Given the description of an element on the screen output the (x, y) to click on. 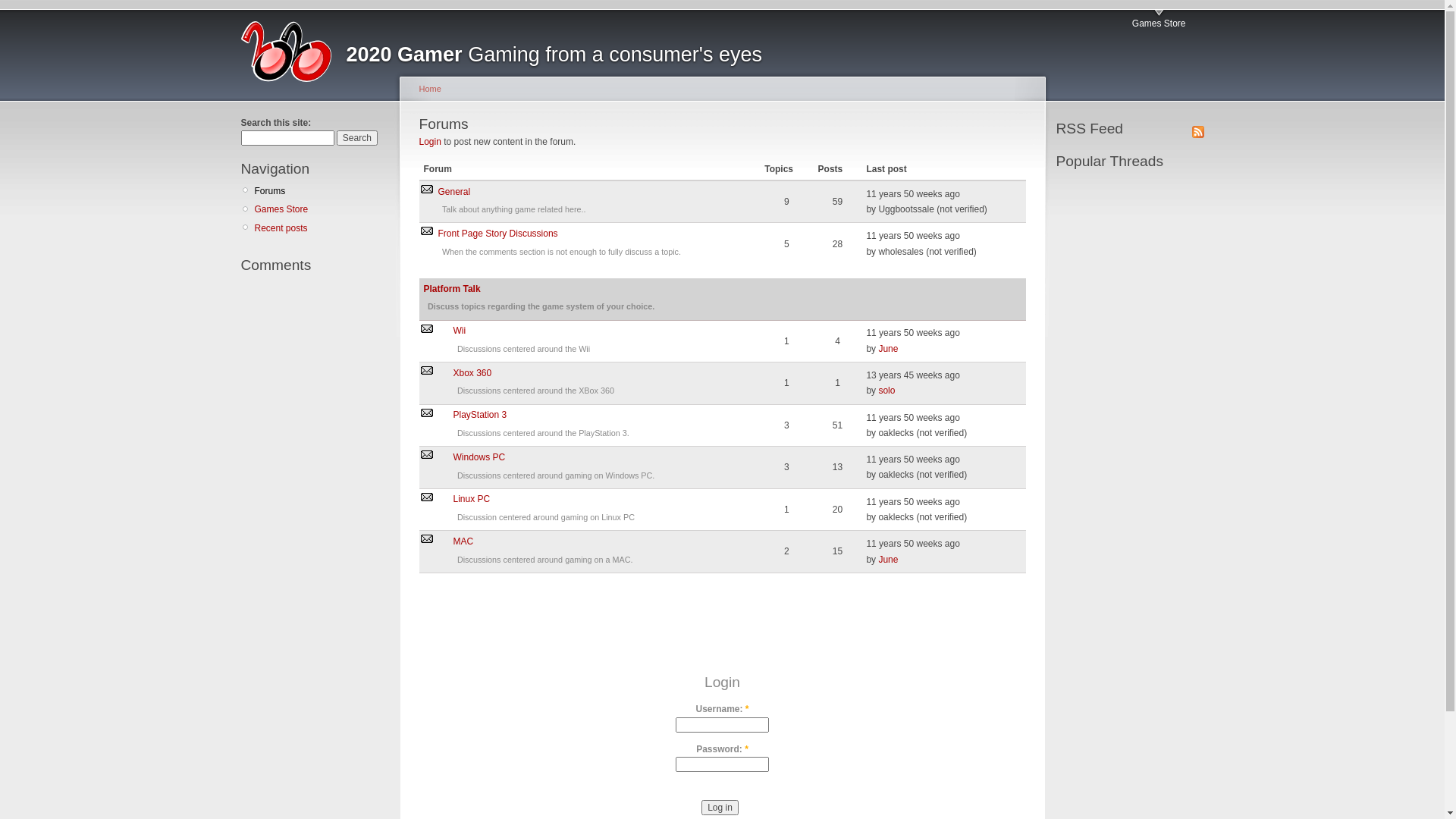
solo Element type: text (886, 390)
Wii Element type: text (459, 330)
Search Element type: text (356, 137)
Forums Element type: text (321, 190)
MAC Element type: text (463, 541)
Games Store Element type: text (1159, 20)
June Element type: text (887, 348)
Login Element type: text (429, 141)
General Element type: text (454, 191)
June Element type: text (887, 559)
Advertisement Element type: hover (722, 641)
PlayStation 3 Element type: text (480, 414)
Platform Talk Element type: text (451, 288)
Xbox 360 Element type: text (472, 372)
Syndicate Element type: hover (1198, 130)
Home Element type: text (429, 88)
Recent posts Element type: text (321, 227)
Windows PC Element type: text (479, 456)
Front Page Story Discussions Element type: text (498, 233)
Advertisement Element type: hover (1100, 416)
2020 Gamer Gaming from a consumer's eyes Element type: text (553, 54)
Games Store Element type: text (321, 208)
Linux PC Element type: text (471, 498)
Log in Element type: text (719, 807)
Enter the terms you wish to search for. Element type: hover (287, 137)
